Given the description of an element on the screen output the (x, y) to click on. 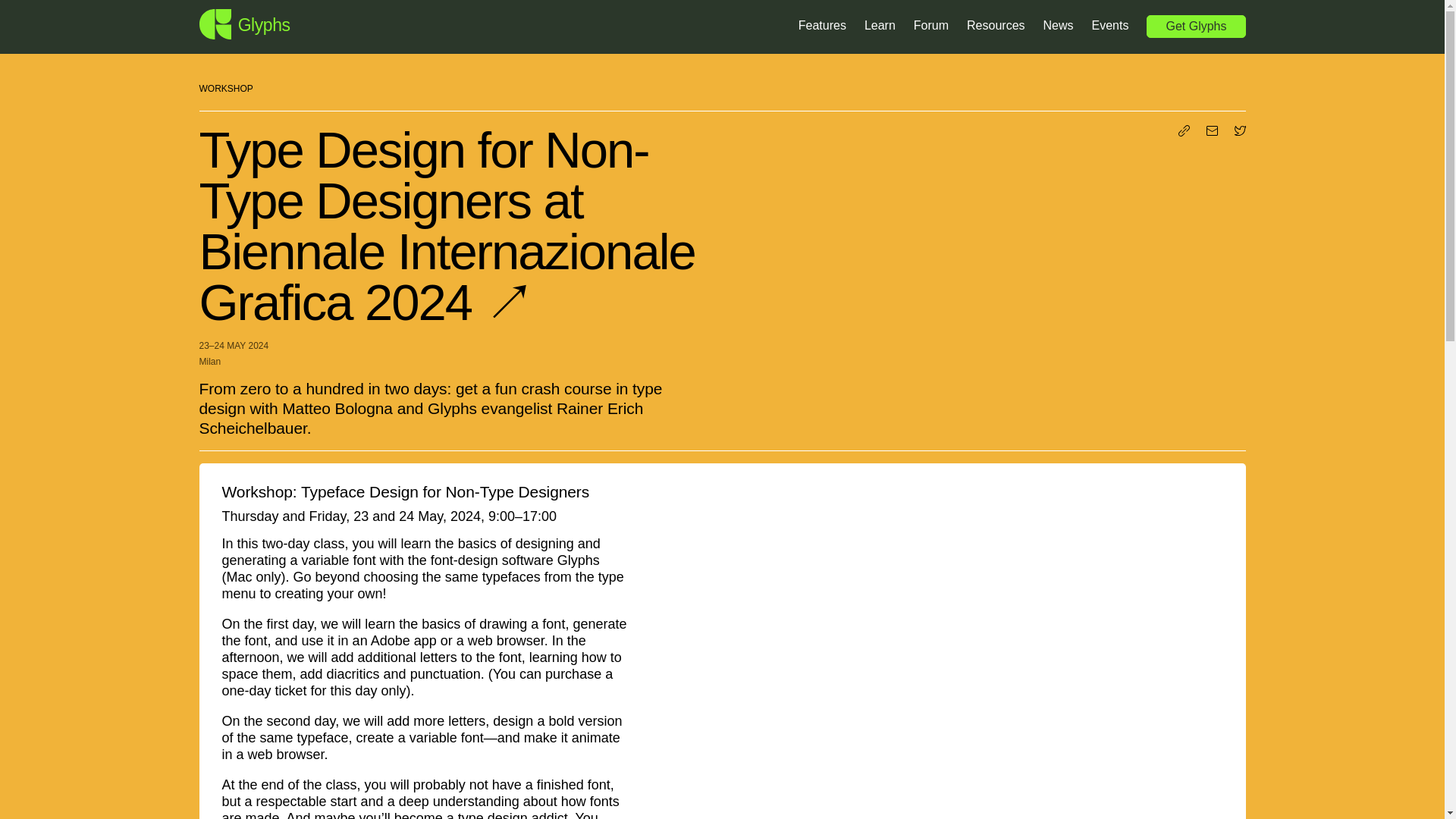
Glyphs (243, 24)
Features (822, 26)
Learn (880, 26)
Get Glyphs (1195, 26)
